Given the description of an element on the screen output the (x, y) to click on. 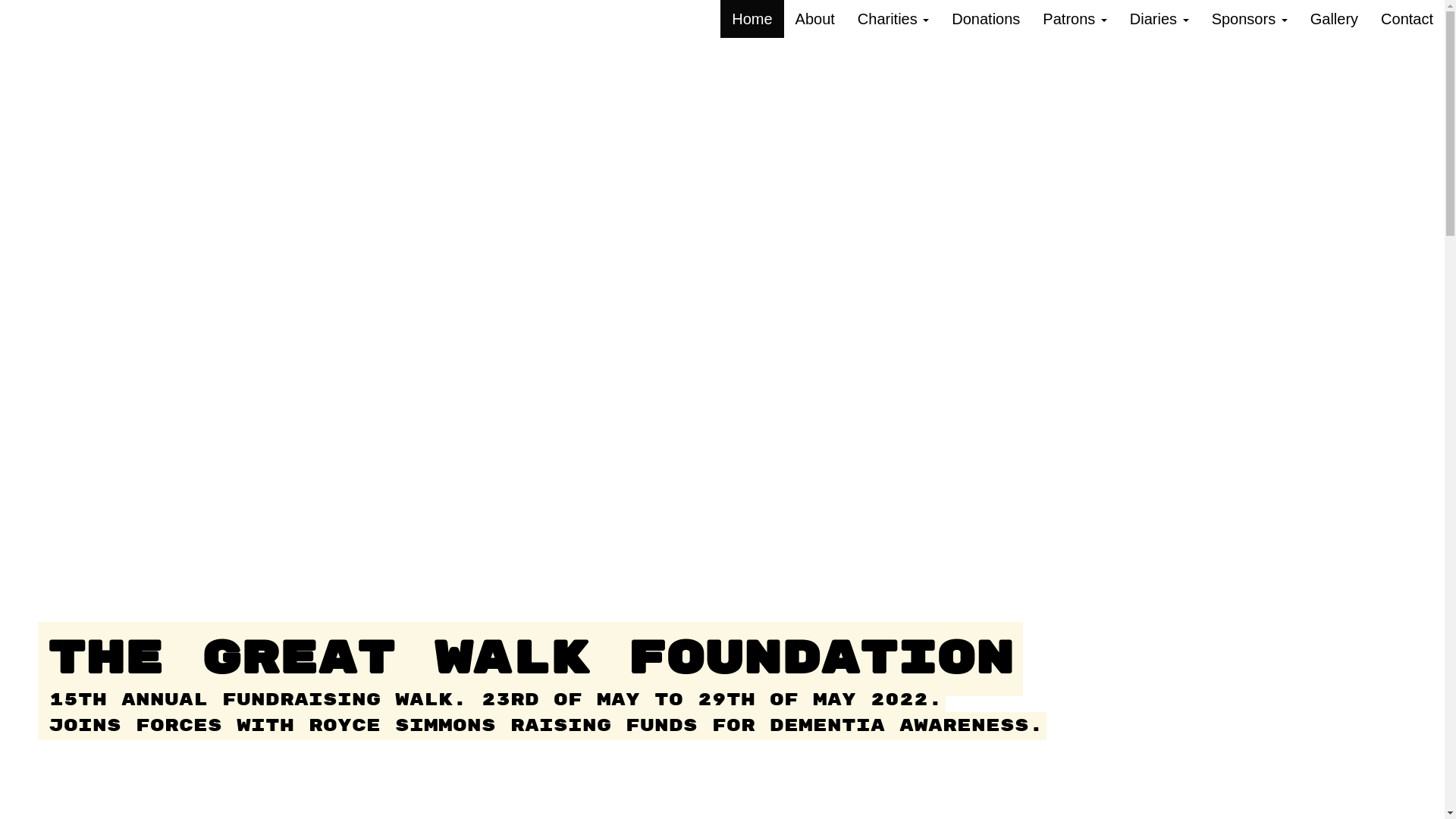
Home Element type: text (751, 18)
Donations Element type: text (985, 18)
About Element type: text (815, 18)
Gallery Element type: text (1334, 18)
Contact Element type: text (1406, 18)
Charities Element type: text (893, 18)
Diaries Element type: text (1159, 18)
Sponsors Element type: text (1249, 18)
Patrons Element type: text (1074, 18)
